Given the description of an element on the screen output the (x, y) to click on. 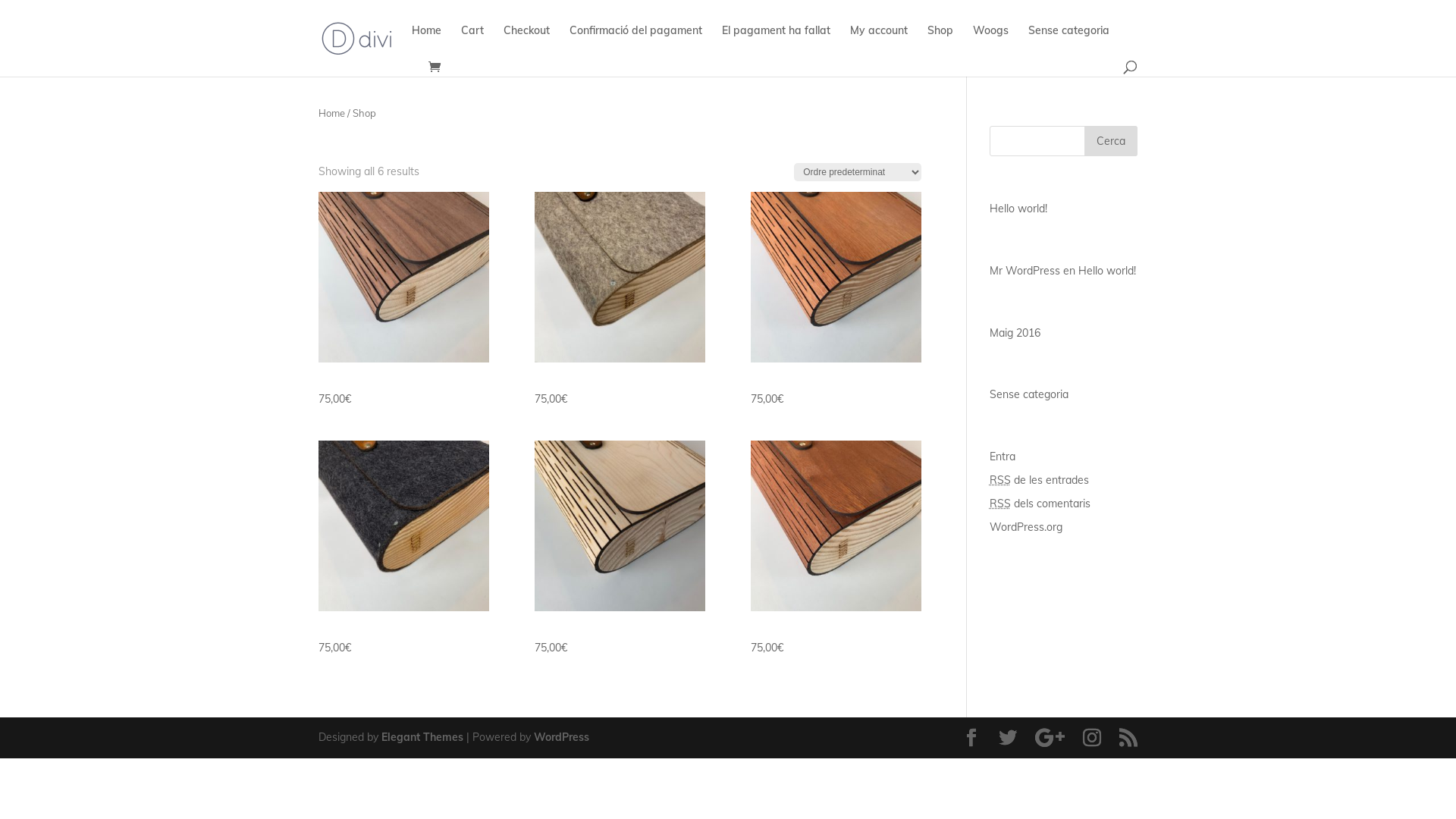
Home Element type: text (331, 112)
Cart Element type: text (472, 42)
Elegant Themes Element type: text (422, 736)
Sense categoria Element type: text (1068, 42)
RSS dels comentaris Element type: text (1039, 503)
Woogs Element type: text (990, 42)
RSS de les entrades Element type: text (1038, 479)
Hello world! Element type: text (1106, 270)
Maig 2016 Element type: text (1014, 332)
Home Element type: text (426, 42)
El pagament ha fallat Element type: text (775, 42)
WordPress Element type: text (561, 736)
Sense categoria Element type: text (1028, 394)
Mr WordPress Element type: text (1024, 270)
Hello world! Element type: text (1018, 208)
WordPress.org Element type: text (1025, 526)
Cerca Element type: text (1110, 140)
My account Element type: text (878, 42)
Entra Element type: text (1002, 456)
Checkout Element type: text (526, 42)
Shop Element type: text (940, 42)
